Given the description of an element on the screen output the (x, y) to click on. 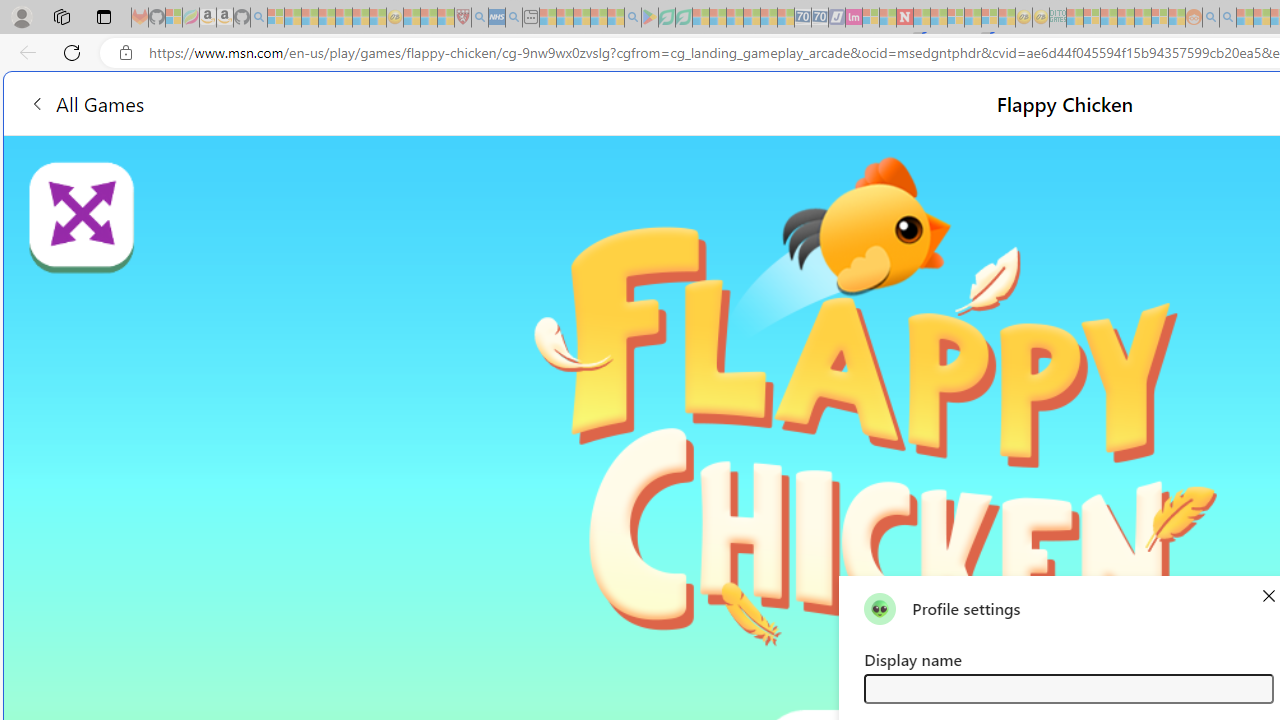
Latest Politics News & Archive | Newsweek.com - Sleeping (904, 17)
